Given the description of an element on the screen output the (x, y) to click on. 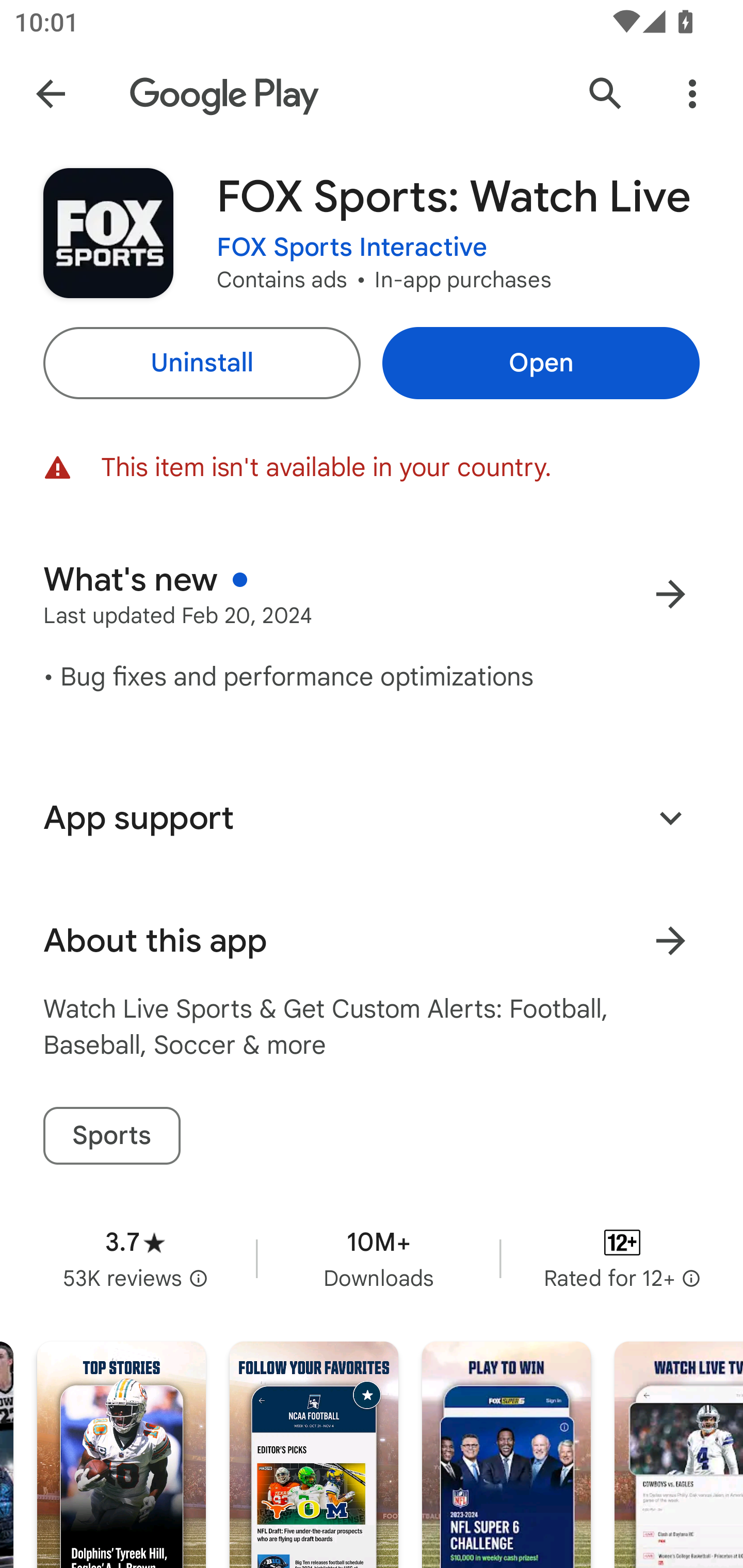
Navigate up (50, 93)
Search Google Play (605, 93)
More Options (692, 93)
FOX Sports Interactive (351, 247)
Uninstall (201, 362)
Open (540, 362)
More results for What's new (670, 594)
App support Expand (371, 817)
Expand (670, 817)
About this app Learn more About this app (371, 940)
Learn more About this app (670, 940)
Sports tag (111, 1135)
Average rating 3.7 stars in 53 thousand reviews (135, 1258)
Content rating Rated for 12+ (622, 1258)
Screenshot "1" of "5" (121, 1455)
Screenshot "2" of "5" (313, 1455)
Screenshot "3" of "5" (506, 1455)
Screenshot "4" of "5" (678, 1455)
